Given the description of an element on the screen output the (x, y) to click on. 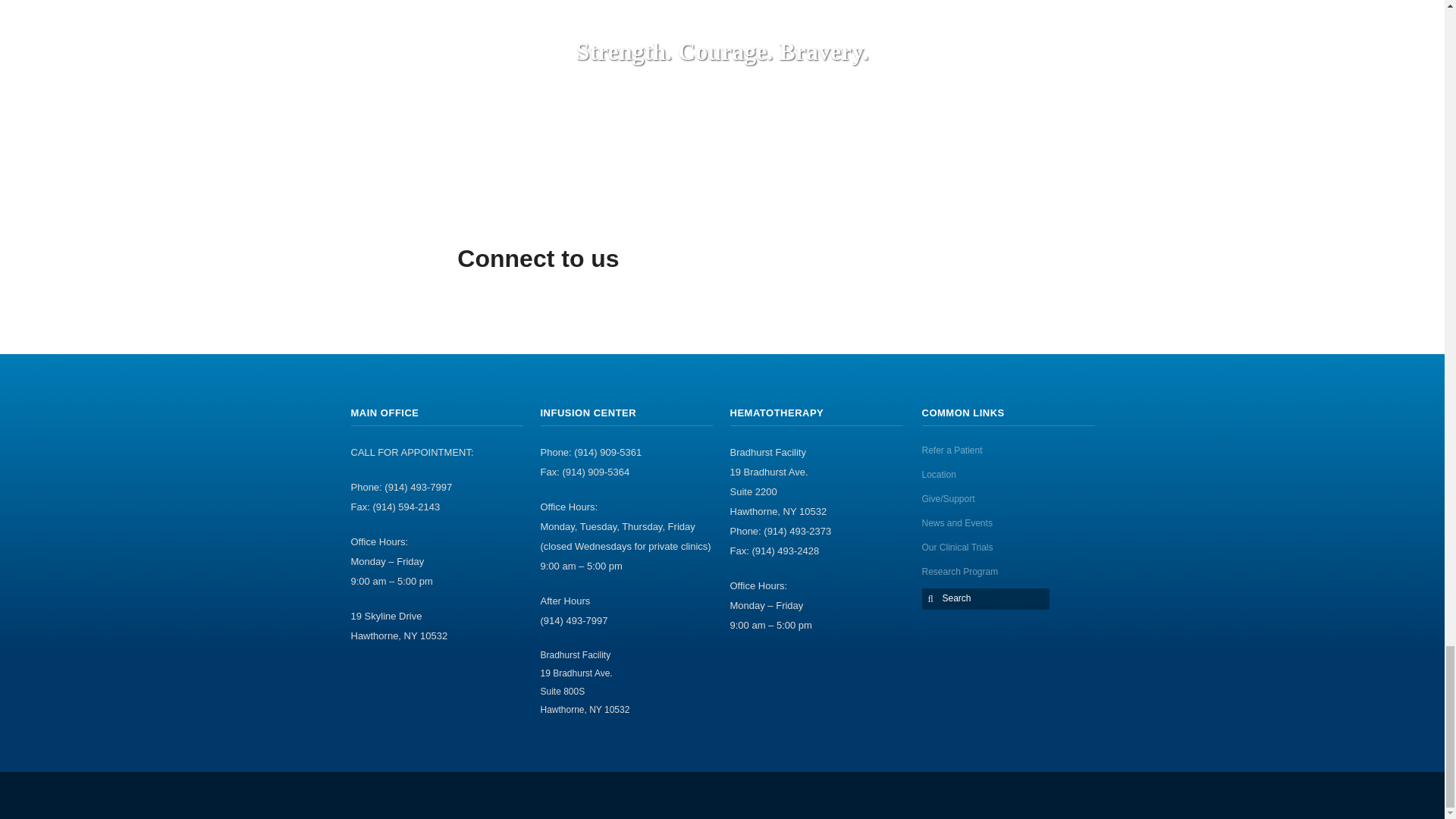
Search (987, 597)
